Given the description of an element on the screen output the (x, y) to click on. 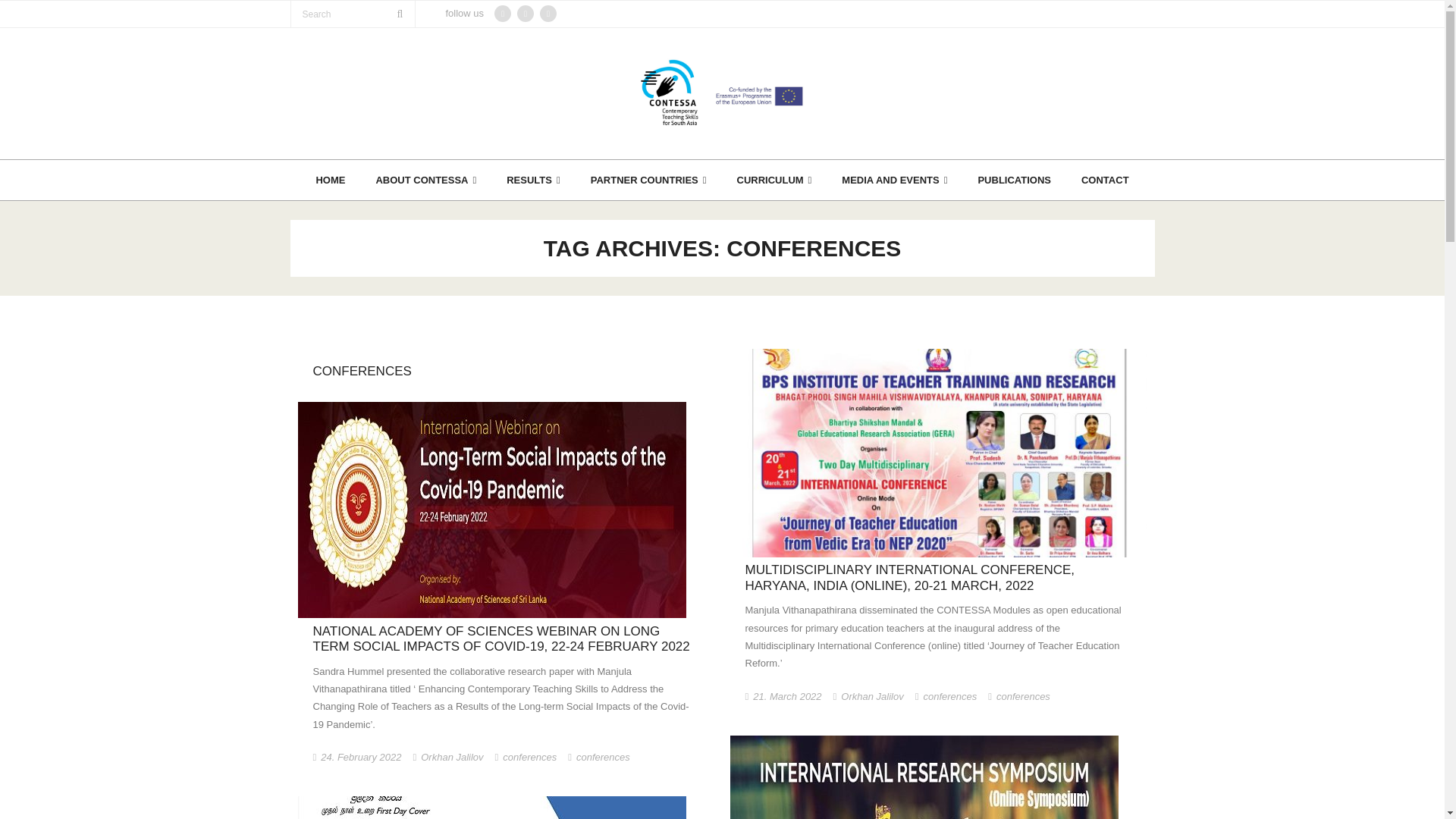
HOME (329, 179)
RESULTS (533, 179)
View all posts by Orkhan Jalilov (871, 696)
View all posts by Orkhan Jalilov (451, 756)
Search (37, 16)
ABOUT CONTESSA (425, 179)
Permalink to Conferences (361, 370)
PARTNER COUNTRIES (648, 179)
